Given the description of an element on the screen output the (x, y) to click on. 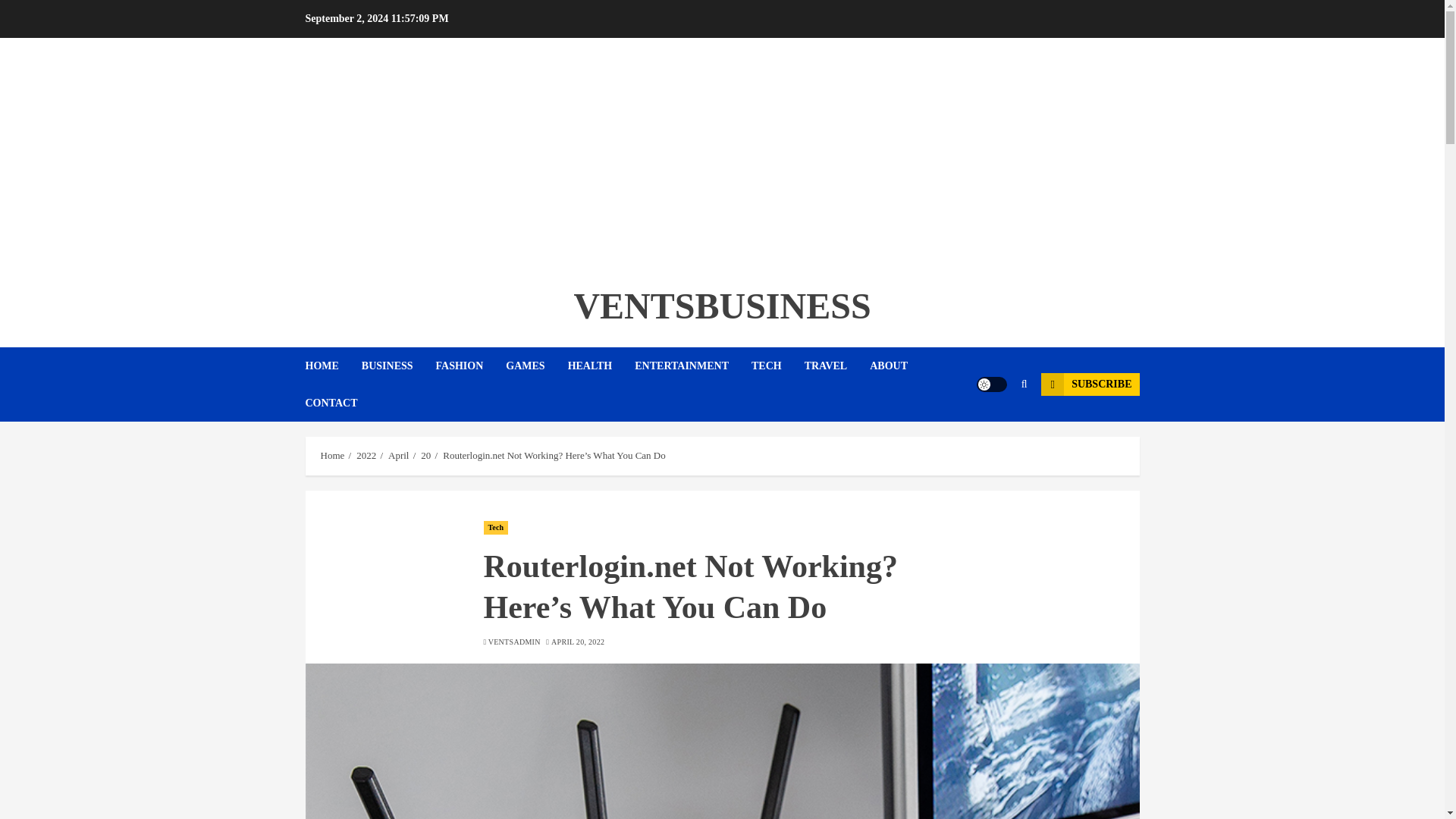
FASHION (470, 365)
TECH (778, 365)
2022 (365, 455)
VENTSBUSINESS (721, 305)
GAMES (536, 365)
Search (994, 430)
April (398, 455)
APRIL 20, 2022 (577, 642)
ABOUT (899, 365)
Home (331, 455)
